Given the description of an element on the screen output the (x, y) to click on. 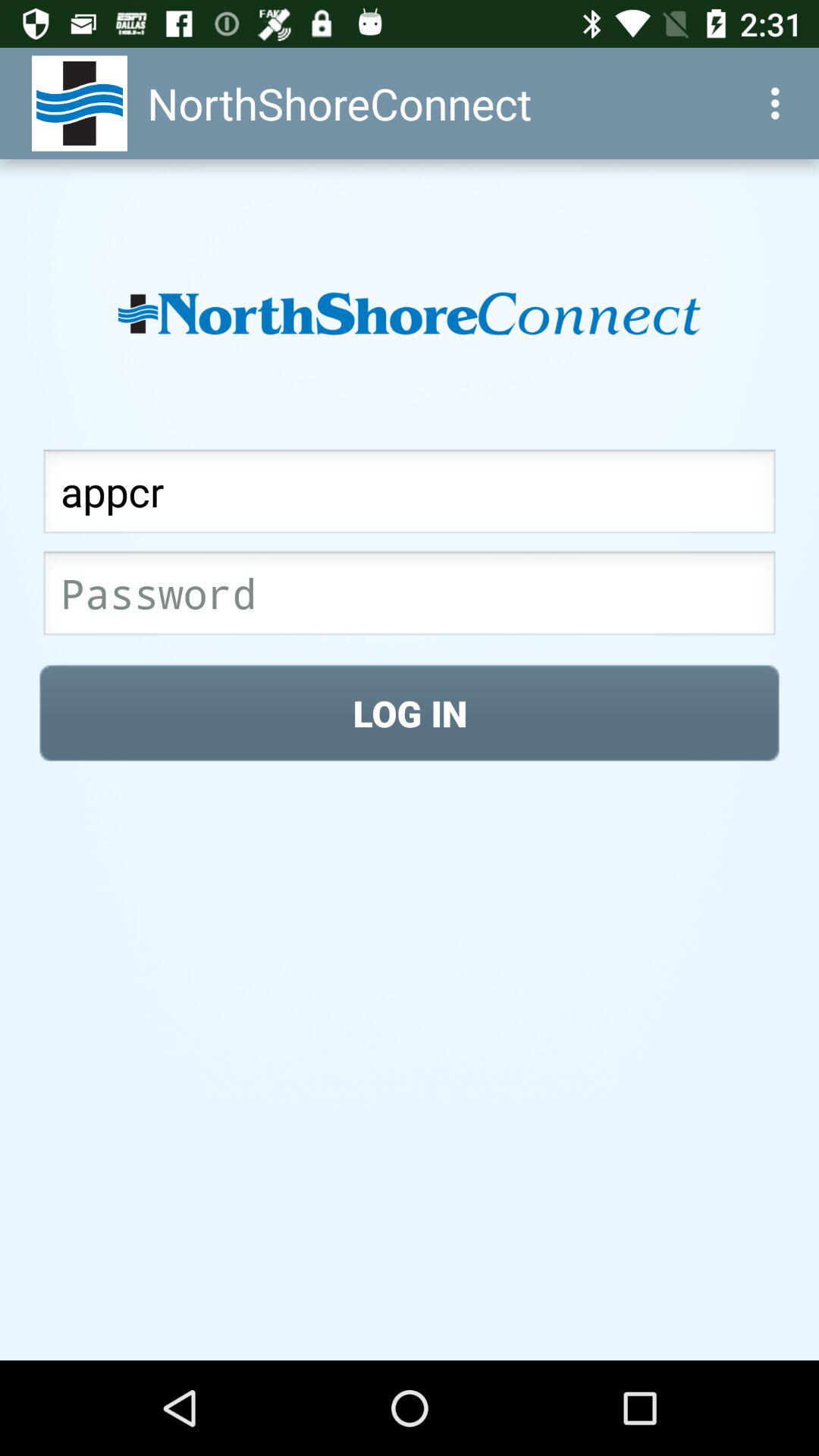
enter password now (409, 597)
